Given the description of an element on the screen output the (x, y) to click on. 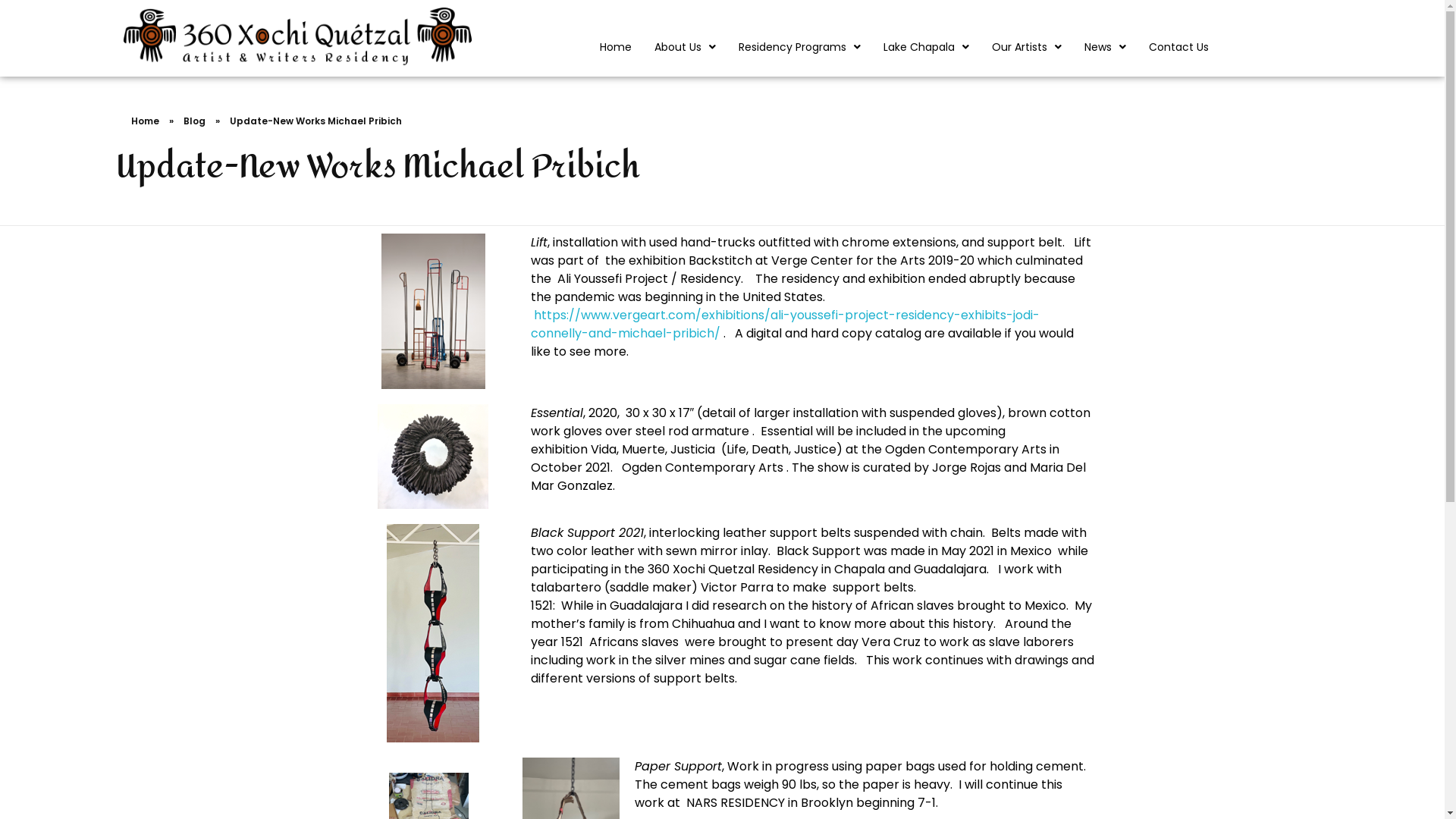
Our Artists Element type: text (1026, 46)
Blog Element type: text (194, 120)
Home Element type: text (615, 46)
Home Element type: text (144, 120)
Contact Us Element type: text (1178, 46)
Lake Chapala Element type: text (926, 46)
About Us Element type: text (685, 46)
Residency Programs Element type: text (799, 46)
News Element type: text (1105, 46)
